Given the description of an element on the screen output the (x, y) to click on. 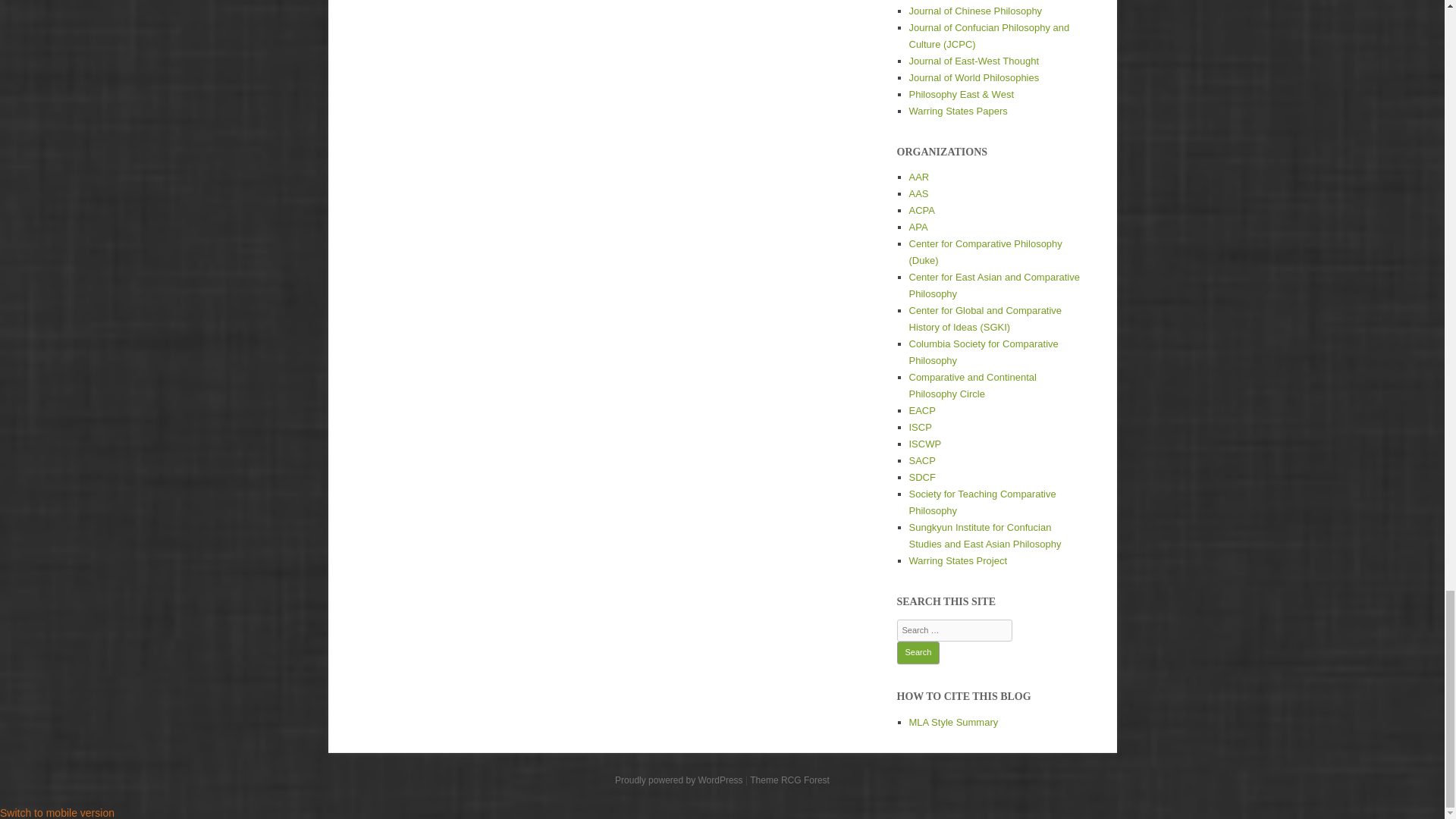
Semantic Personal Publishing Platform (678, 779)
Search (917, 652)
European Association for Chinese Philosophy (921, 410)
Search (917, 652)
Sinological Development Charitable Foundation (921, 477)
American Academy of Religion (918, 176)
